Given the description of an element on the screen output the (x, y) to click on. 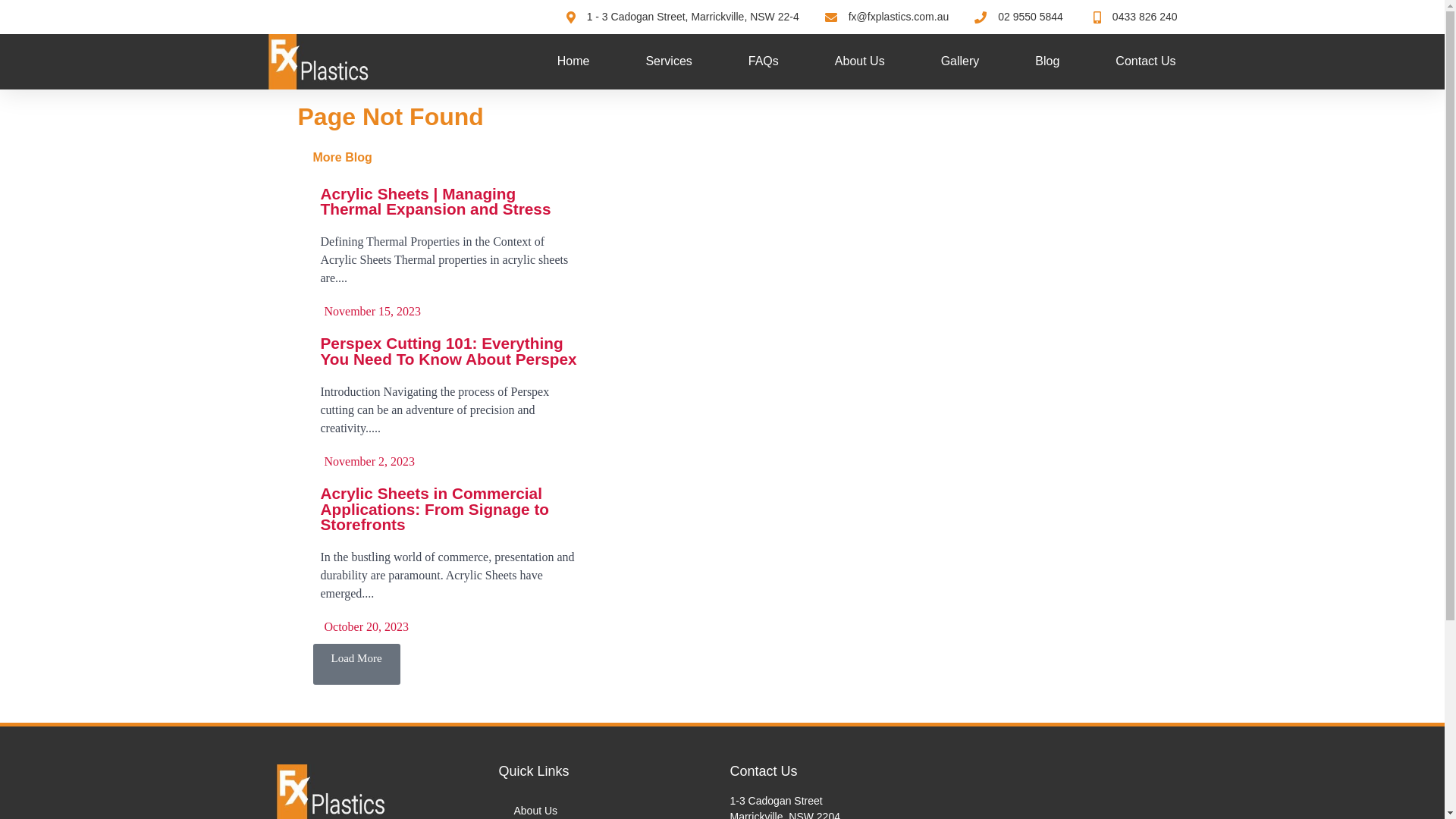
November 15, 2023 Element type: text (370, 311)
Contact Us Element type: text (1145, 60)
About Us Element type: text (859, 60)
FAQs Element type: text (763, 60)
Load More Element type: text (355, 663)
Gallery Element type: text (959, 60)
November 2, 2023 Element type: text (367, 461)
Blog Element type: text (1047, 60)
October 20, 2023 Element type: text (364, 627)
Services Element type: text (668, 60)
Home Element type: text (573, 60)
Acrylic Sheets | Managing Thermal Expansion and Stress Element type: text (435, 201)
